Given the description of an element on the screen output the (x, y) to click on. 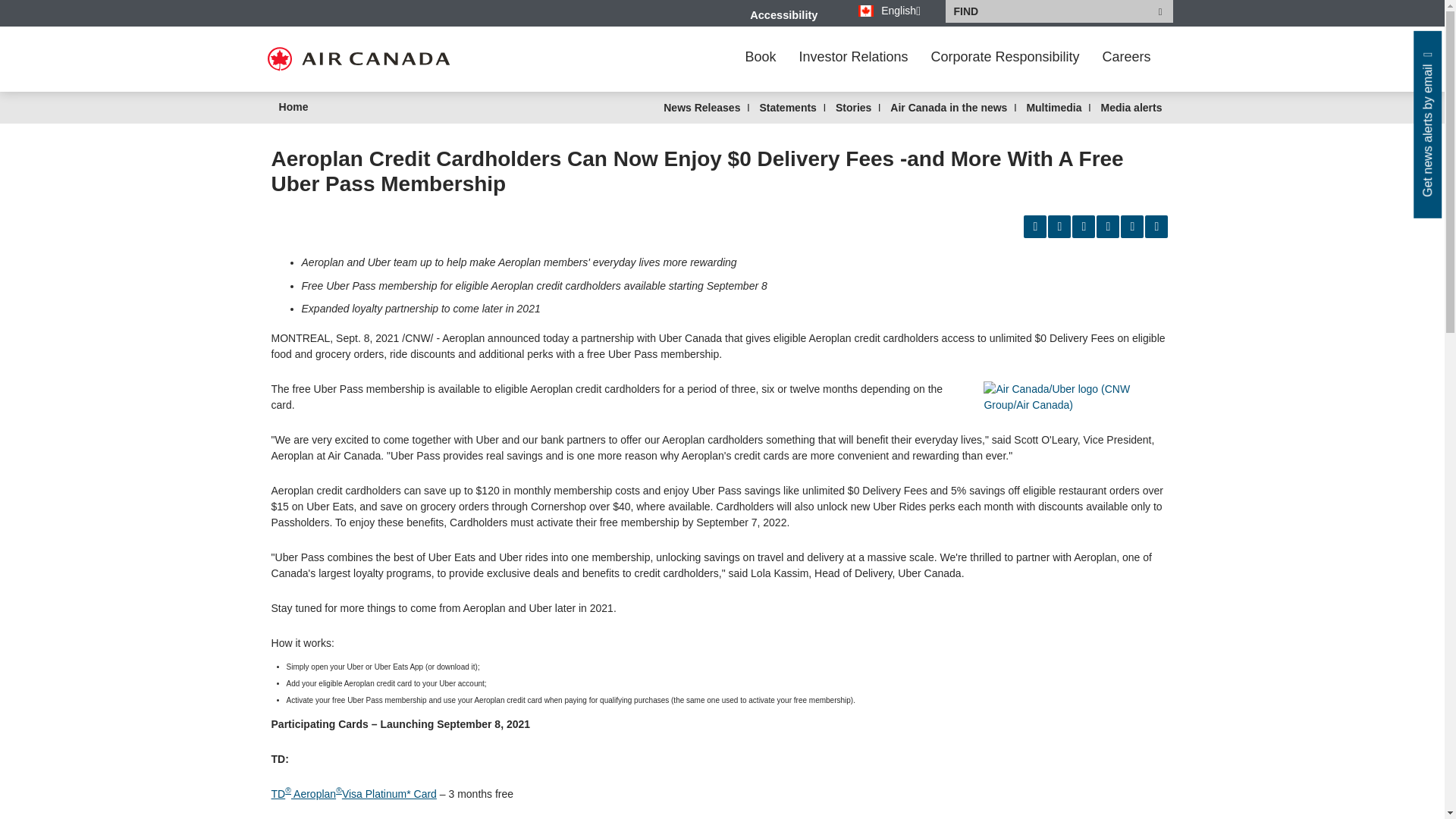
Careers (1125, 56)
Twitter Share (1107, 226)
Stories (852, 107)
Click here to email the current page content. (1131, 226)
Linkedin Share (1082, 226)
Air Canada in the news (948, 107)
Book (760, 56)
Statements (786, 107)
Media alerts (1130, 107)
News Releases (701, 107)
Facebook Share (1059, 226)
Accessibility (782, 15)
Click here to download PDF. (1155, 226)
Investor Relations (853, 56)
